Given the description of an element on the screen output the (x, y) to click on. 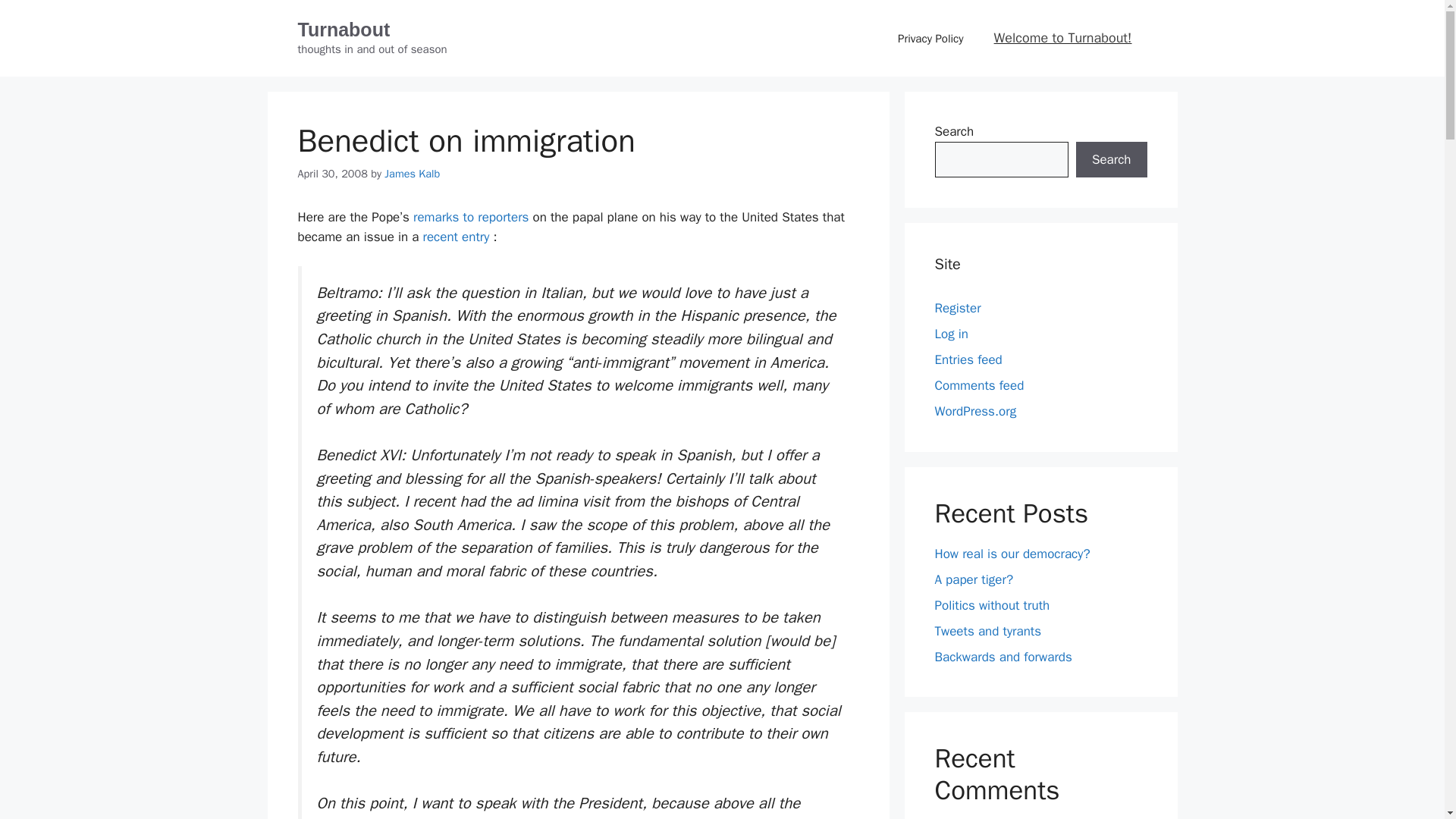
Entries feed (967, 359)
Tweets and tyrants (987, 631)
View all posts by James Kalb (411, 173)
recent entry (456, 236)
Comments feed (978, 385)
Privacy Policy (930, 37)
Politics without truth (991, 605)
remarks to reporters (470, 217)
How real is our democracy? (1011, 553)
Log in (951, 333)
